Given the description of an element on the screen output the (x, y) to click on. 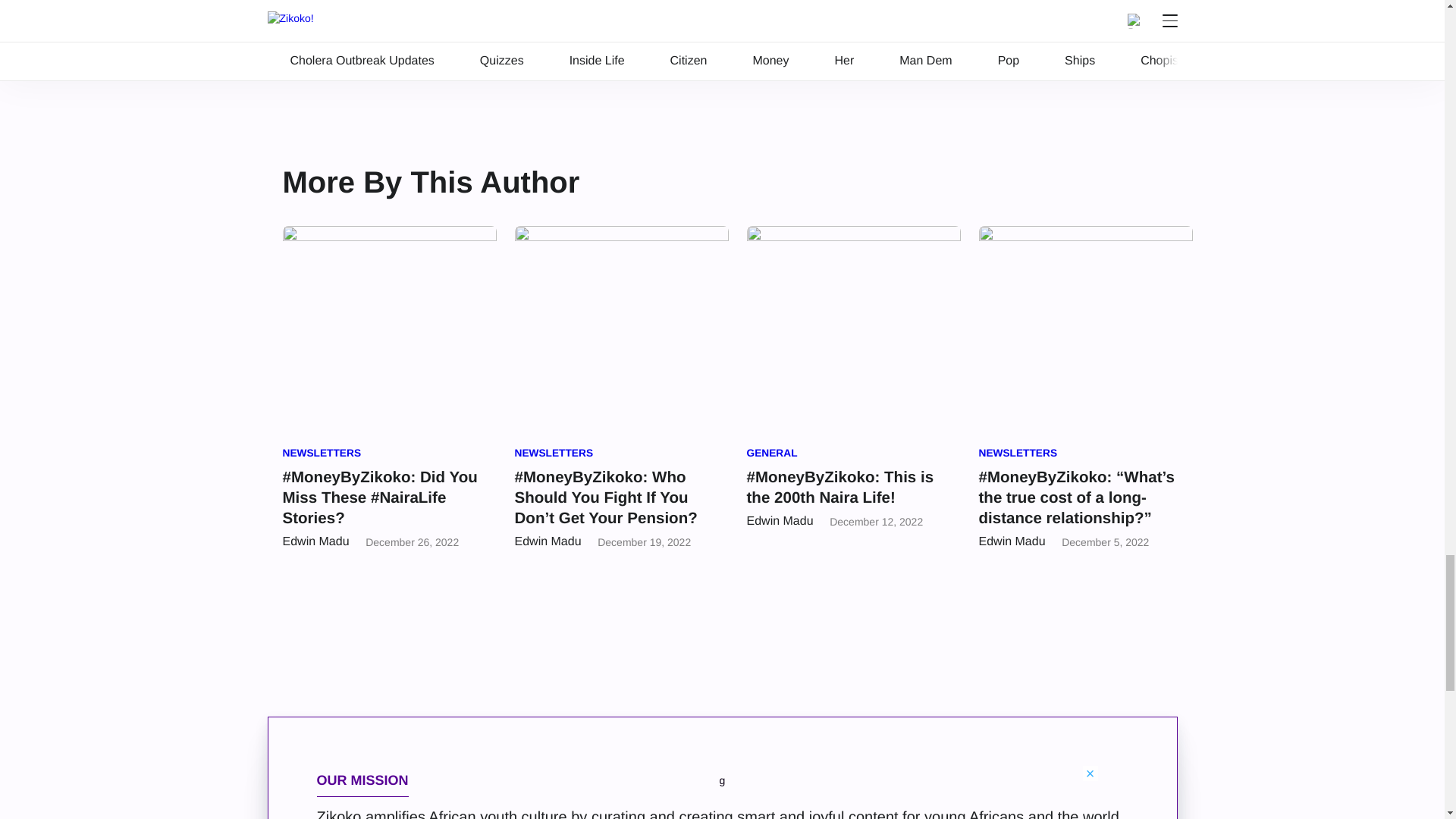
Posts by Edwin Madu (1011, 541)
Posts by Edwin Madu (546, 541)
Posts by Edwin Madu (315, 541)
Posts by Edwin Madu (778, 521)
